Given the description of an element on the screen output the (x, y) to click on. 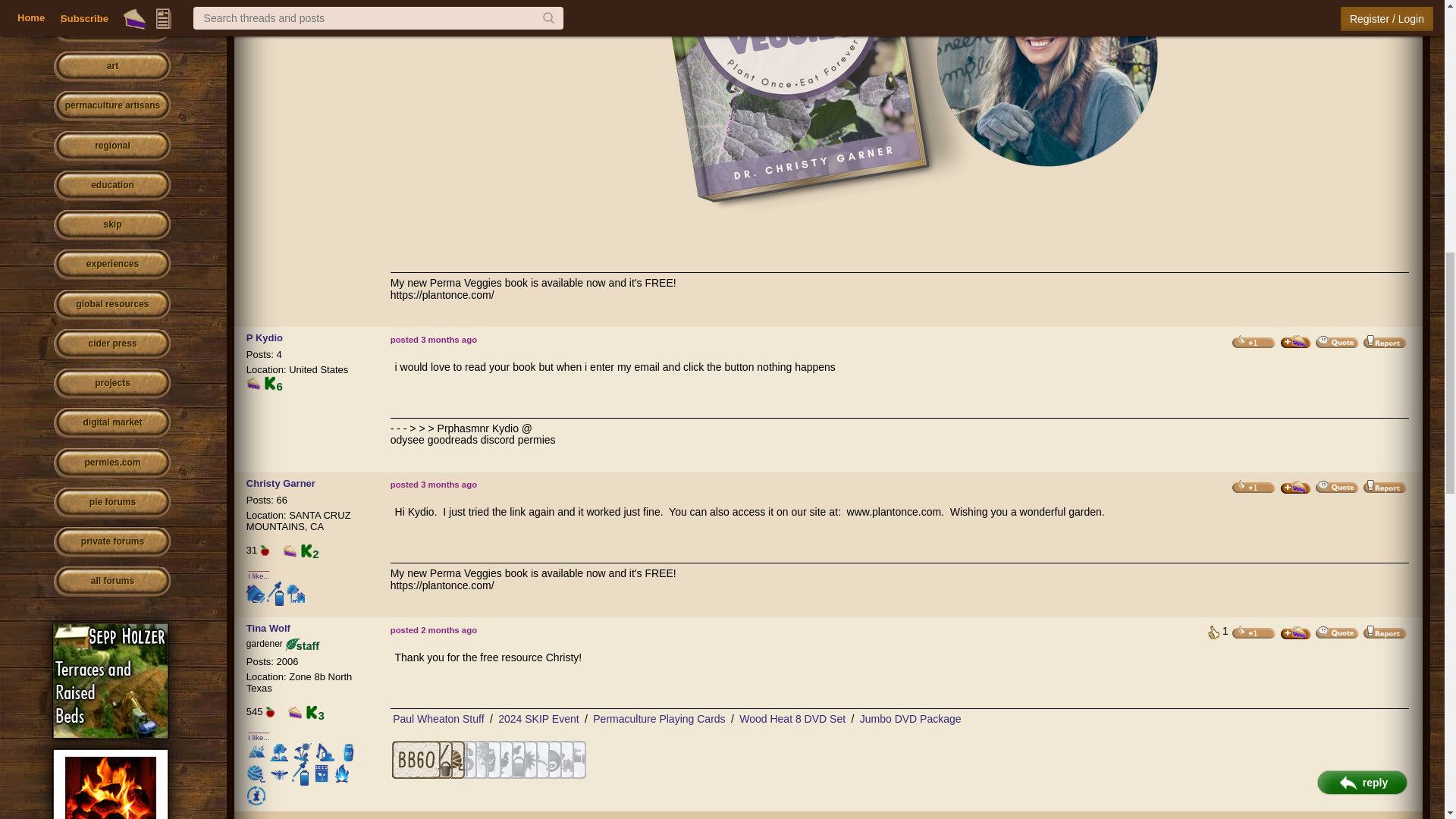
wilderness (112, 2)
fiber arts (112, 27)
art (112, 66)
